Given the description of an element on the screen output the (x, y) to click on. 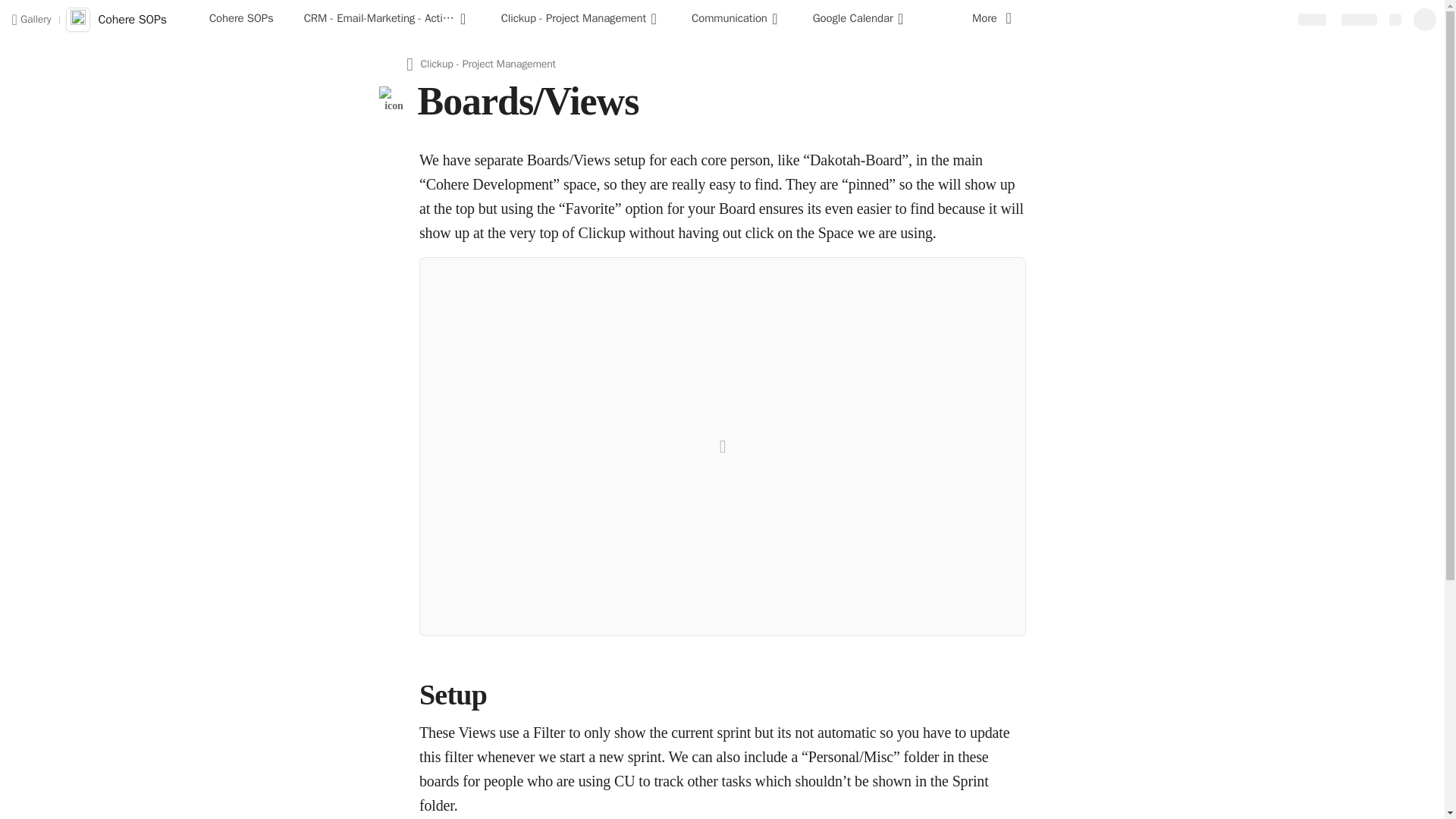
Communication (737, 20)
Cohere SOPs (240, 20)
Clickup - Project Management (581, 20)
Google Calendar (860, 20)
CRM - Email-Marketing - ActiveCampaign (387, 20)
Gallery (30, 19)
